Given the description of an element on the screen output the (x, y) to click on. 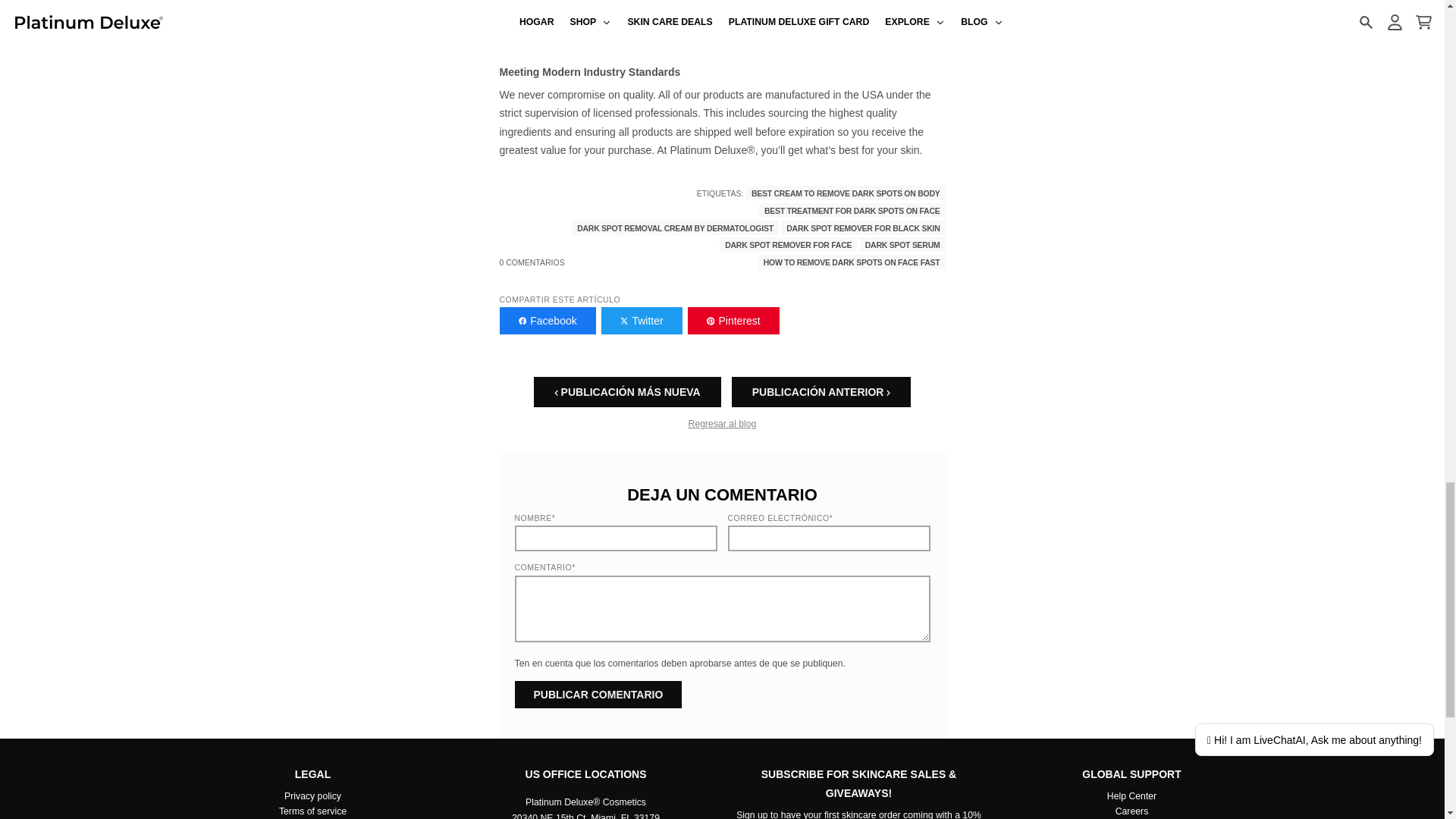
Publicar comentario (597, 694)
